Given the description of an element on the screen output the (x, y) to click on. 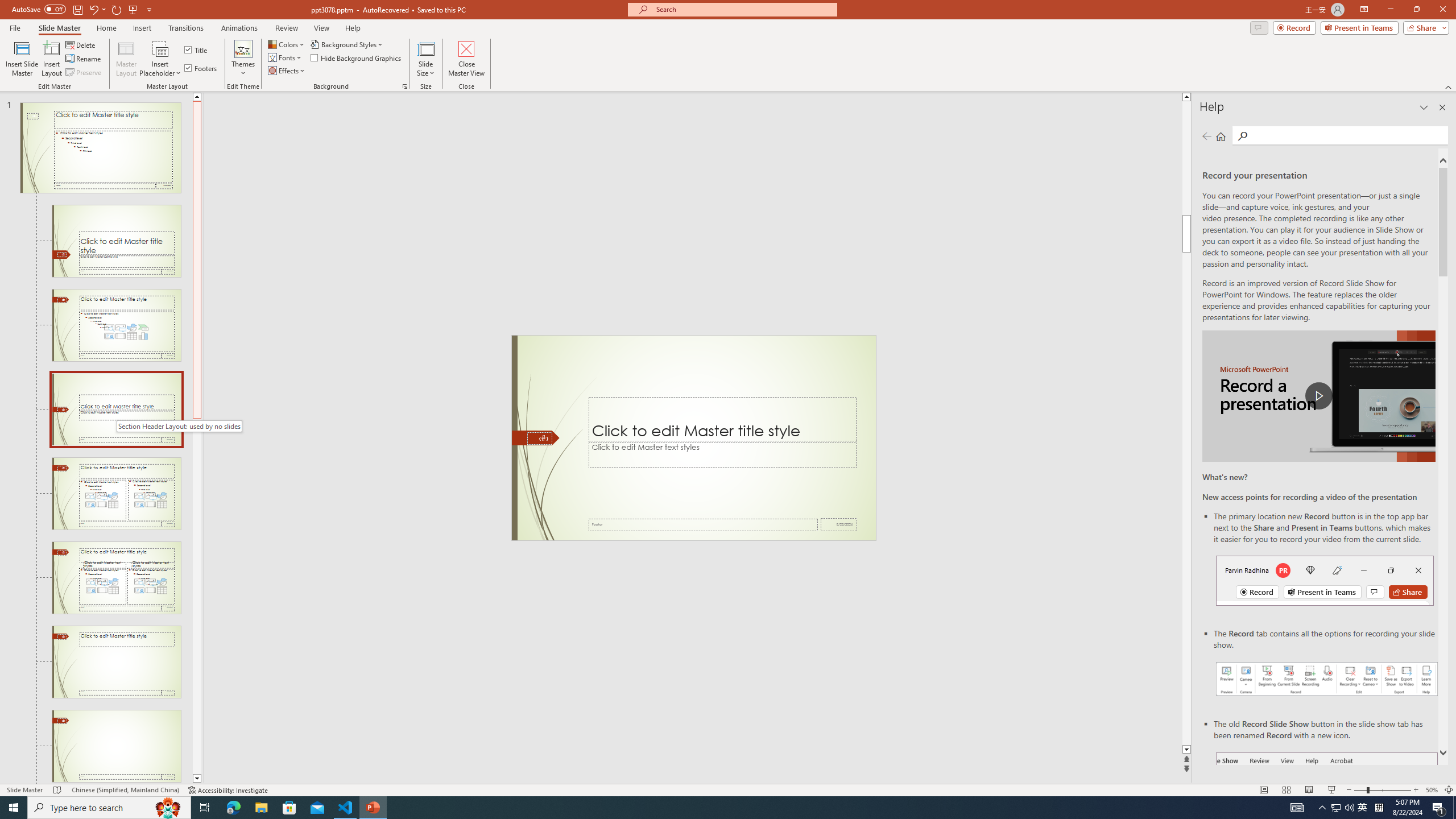
Title (196, 49)
Footers (201, 67)
